Given the description of an element on the screen output the (x, y) to click on. 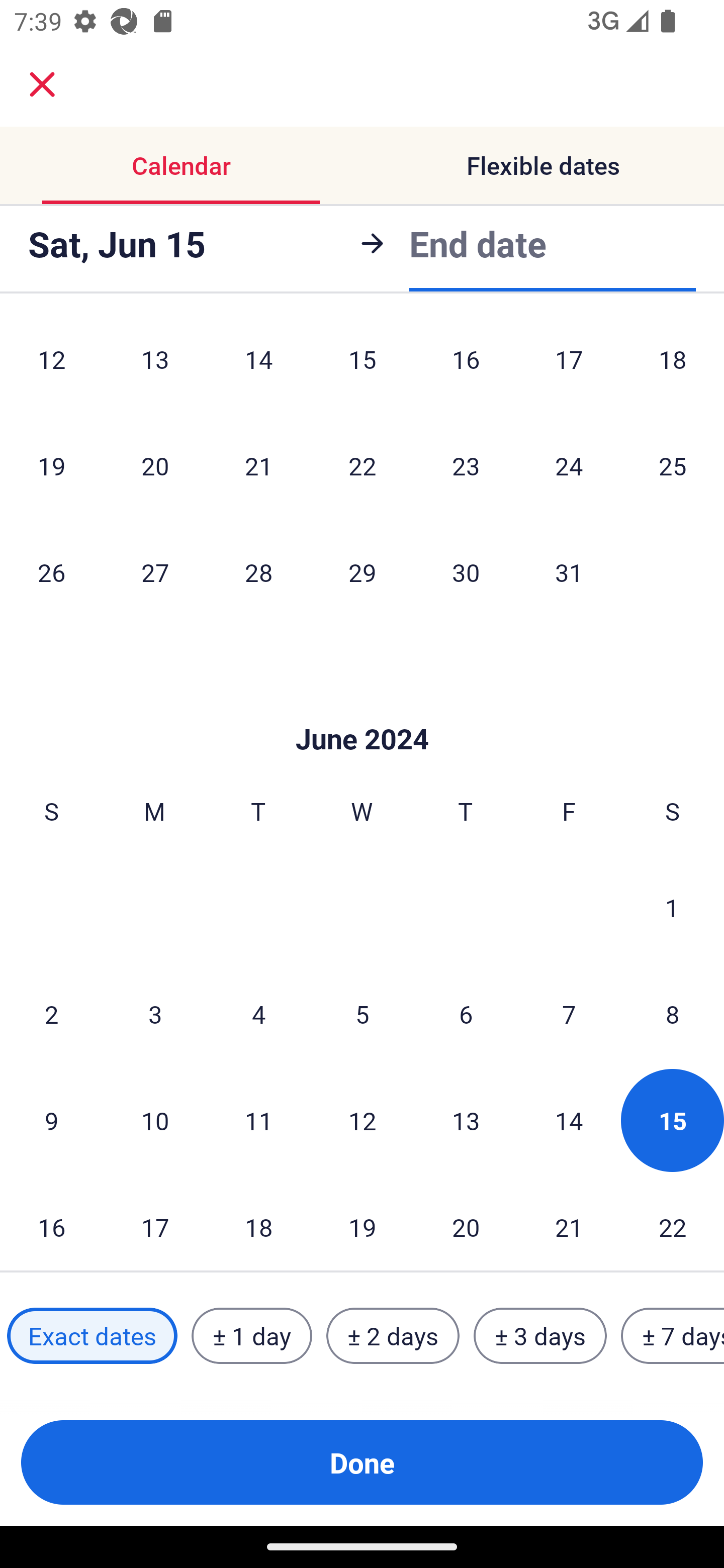
close. (42, 84)
Flexible dates (542, 164)
End date (477, 243)
12 Sunday, May 12, 2024 (51, 365)
13 Monday, May 13, 2024 (155, 365)
14 Tuesday, May 14, 2024 (258, 365)
15 Wednesday, May 15, 2024 (362, 365)
16 Thursday, May 16, 2024 (465, 365)
17 Friday, May 17, 2024 (569, 365)
18 Saturday, May 18, 2024 (672, 365)
19 Sunday, May 19, 2024 (51, 465)
20 Monday, May 20, 2024 (155, 465)
21 Tuesday, May 21, 2024 (258, 465)
22 Wednesday, May 22, 2024 (362, 465)
23 Thursday, May 23, 2024 (465, 465)
24 Friday, May 24, 2024 (569, 465)
25 Saturday, May 25, 2024 (672, 465)
26 Sunday, May 26, 2024 (51, 572)
27 Monday, May 27, 2024 (155, 572)
28 Tuesday, May 28, 2024 (258, 572)
29 Wednesday, May 29, 2024 (362, 572)
30 Thursday, May 30, 2024 (465, 572)
31 Friday, May 31, 2024 (569, 572)
Skip to Done (362, 708)
1 Saturday, June 1, 2024 (672, 907)
2 Sunday, June 2, 2024 (51, 1013)
3 Monday, June 3, 2024 (155, 1013)
4 Tuesday, June 4, 2024 (258, 1013)
5 Wednesday, June 5, 2024 (362, 1013)
6 Thursday, June 6, 2024 (465, 1013)
7 Friday, June 7, 2024 (569, 1013)
8 Saturday, June 8, 2024 (672, 1013)
9 Sunday, June 9, 2024 (51, 1120)
10 Monday, June 10, 2024 (155, 1120)
11 Tuesday, June 11, 2024 (258, 1120)
12 Wednesday, June 12, 2024 (362, 1120)
13 Thursday, June 13, 2024 (465, 1120)
14 Friday, June 14, 2024 (569, 1120)
16 Sunday, June 16, 2024 (51, 1223)
17 Monday, June 17, 2024 (155, 1223)
18 Tuesday, June 18, 2024 (258, 1223)
19 Wednesday, June 19, 2024 (362, 1223)
20 Thursday, June 20, 2024 (465, 1223)
21 Friday, June 21, 2024 (569, 1223)
22 Saturday, June 22, 2024 (672, 1223)
Exact dates (92, 1335)
± 1 day (251, 1335)
± 2 days (392, 1335)
± 3 days (539, 1335)
± 7 days (672, 1335)
Done (361, 1462)
